Given the description of an element on the screen output the (x, y) to click on. 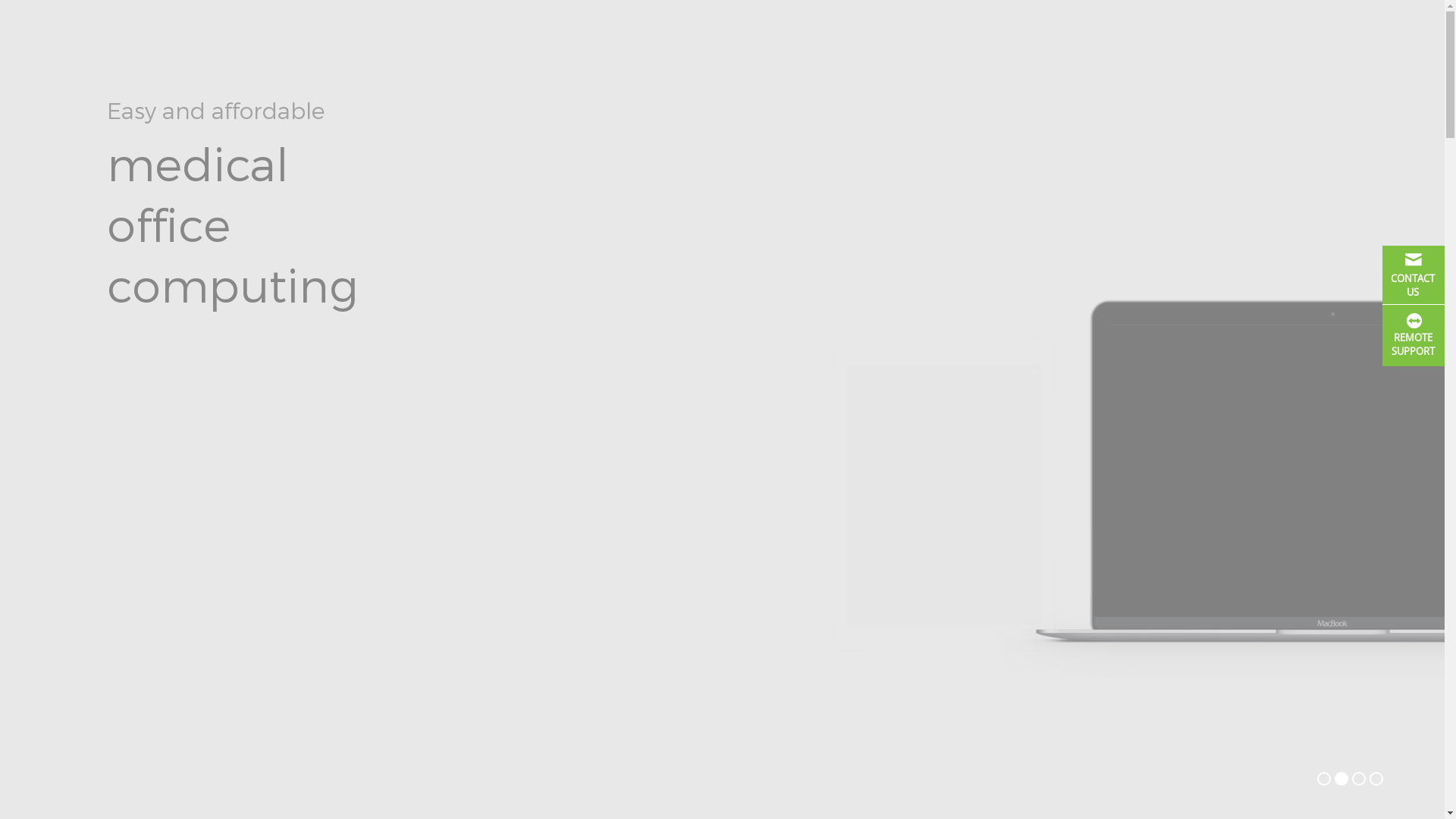
REMOTE SUPPORT Element type: text (1413, 335)
